Given the description of an element on the screen output the (x, y) to click on. 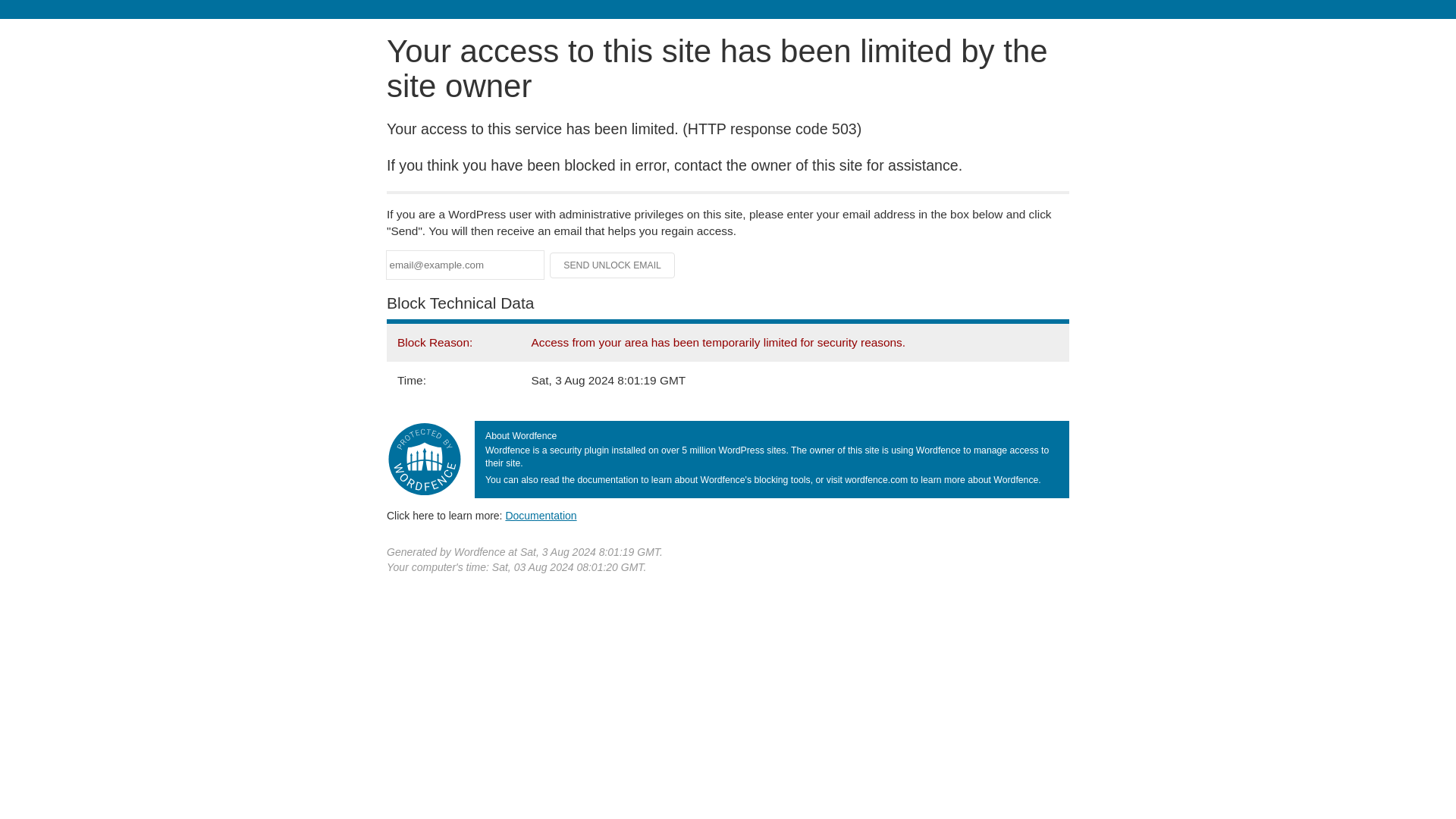
Send Unlock Email (612, 265)
Documentation (540, 515)
Send Unlock Email (612, 265)
